Given the description of an element on the screen output the (x, y) to click on. 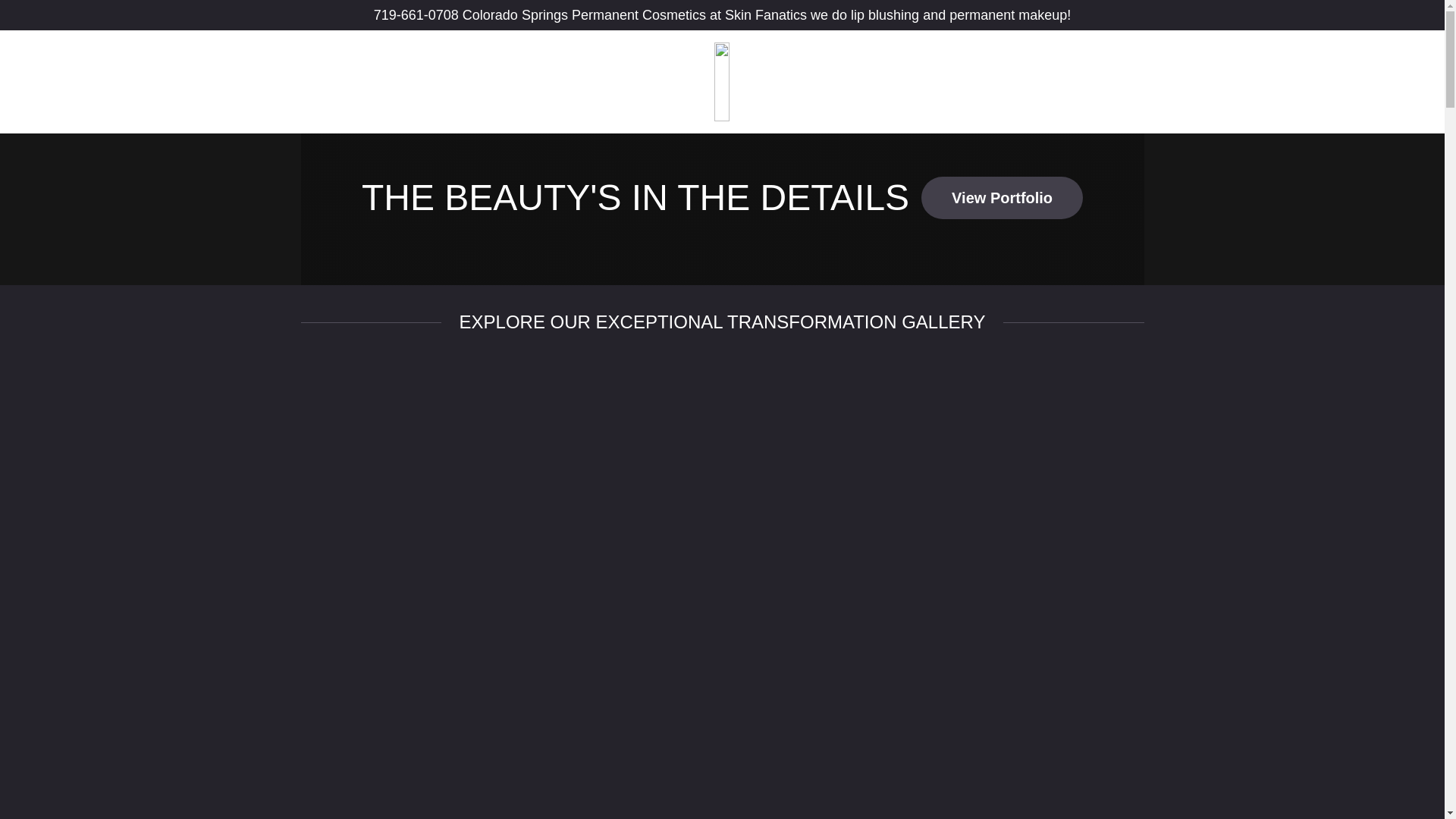
719-661-0708 (416, 14)
